Given the description of an element on the screen output the (x, y) to click on. 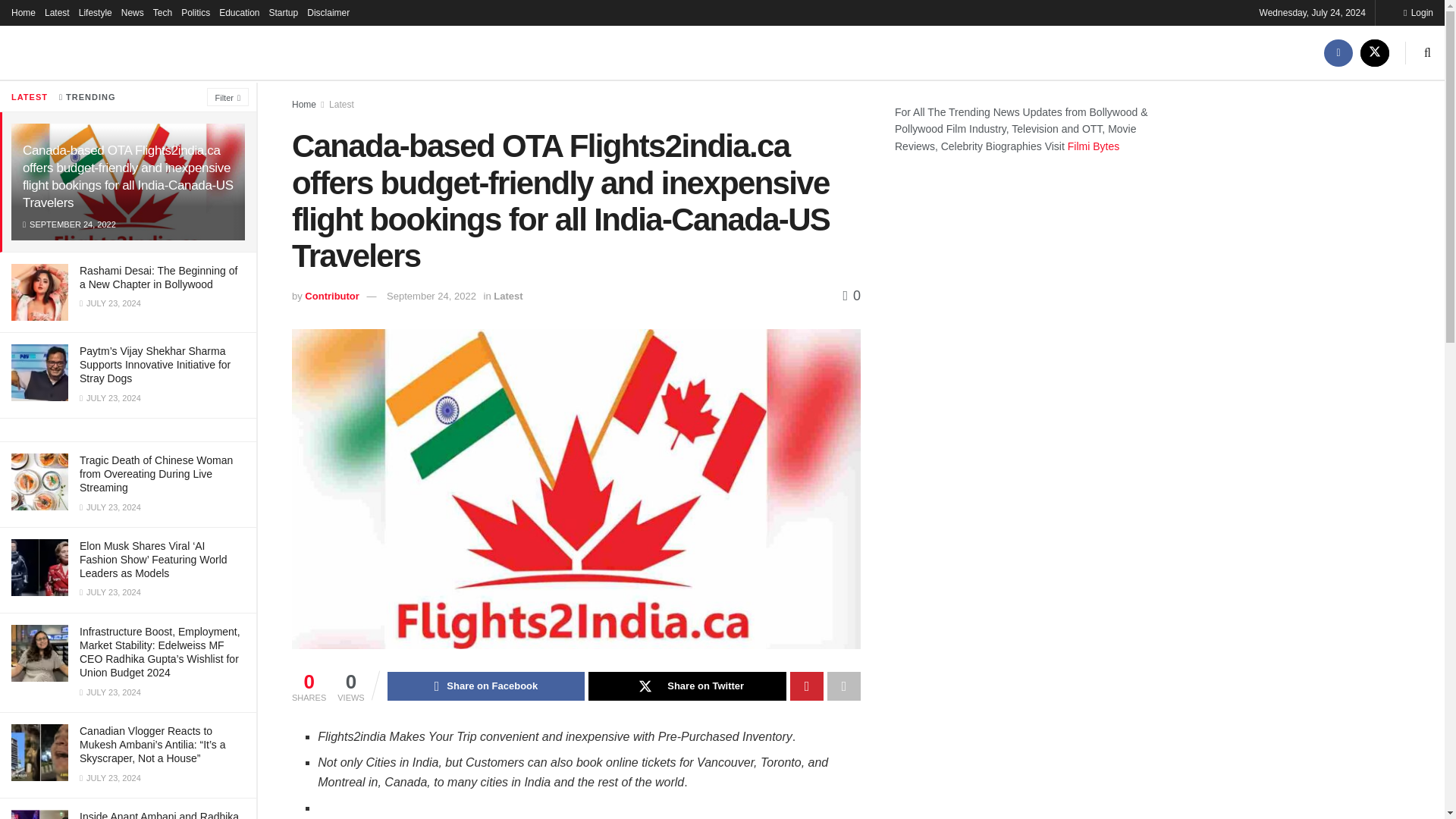
Lifestyle (95, 12)
Startup (283, 12)
Disclaimer (328, 12)
Home (22, 12)
Filter (227, 96)
Login (1417, 12)
Latest (57, 12)
Rashami Desai: The Beginning of a New Chapter in Bollywood (158, 277)
Education (239, 12)
Politics (194, 12)
